Given the description of an element on the screen output the (x, y) to click on. 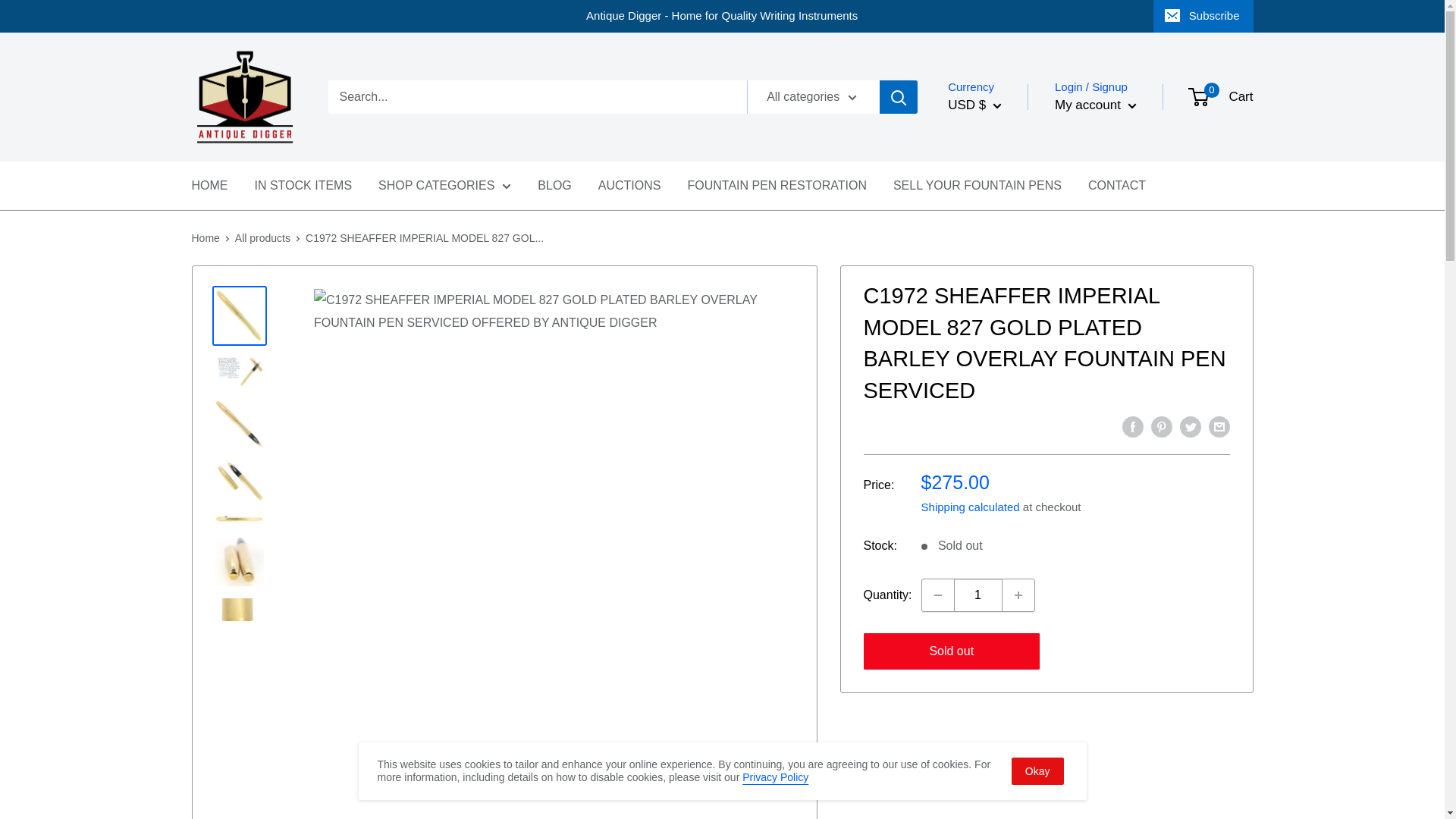
1 (978, 594)
Subscribe (1203, 15)
Increase quantity by 1 (1018, 594)
Decrease quantity by 1 (937, 594)
